Given the description of an element on the screen output the (x, y) to click on. 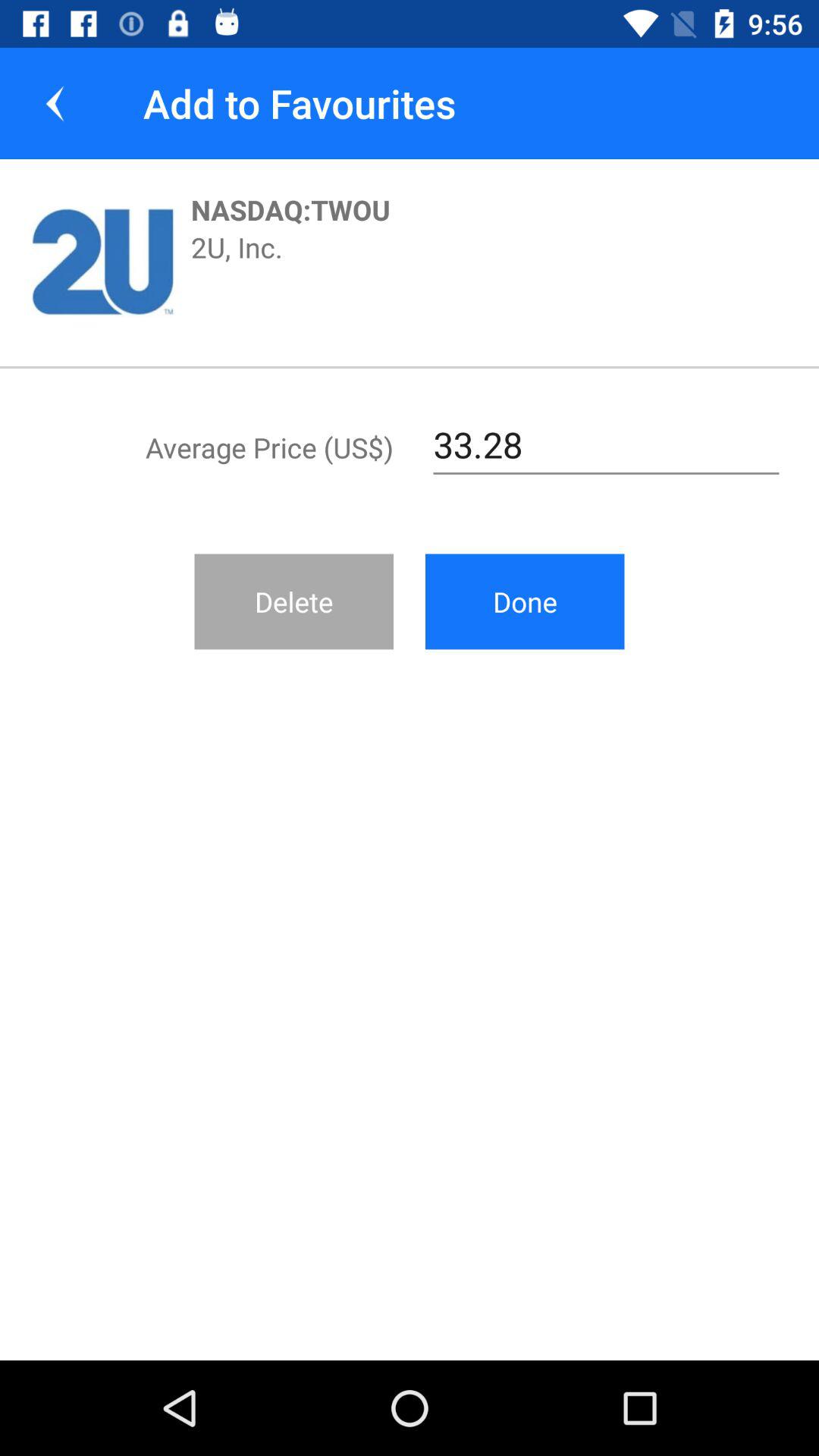
open icon next to the done icon (293, 601)
